Given the description of an element on the screen output the (x, y) to click on. 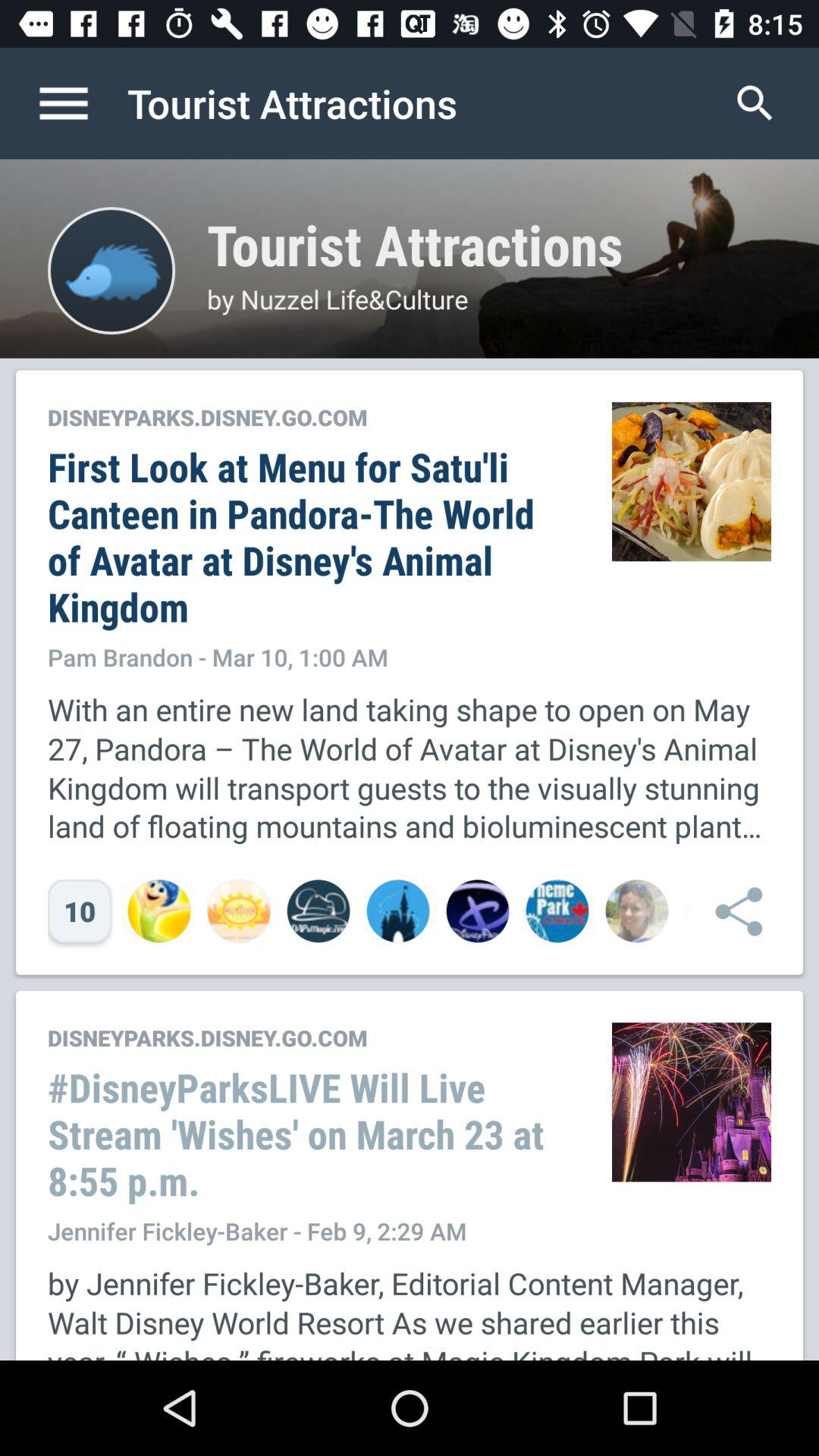
show the menu (79, 103)
